Given the description of an element on the screen output the (x, y) to click on. 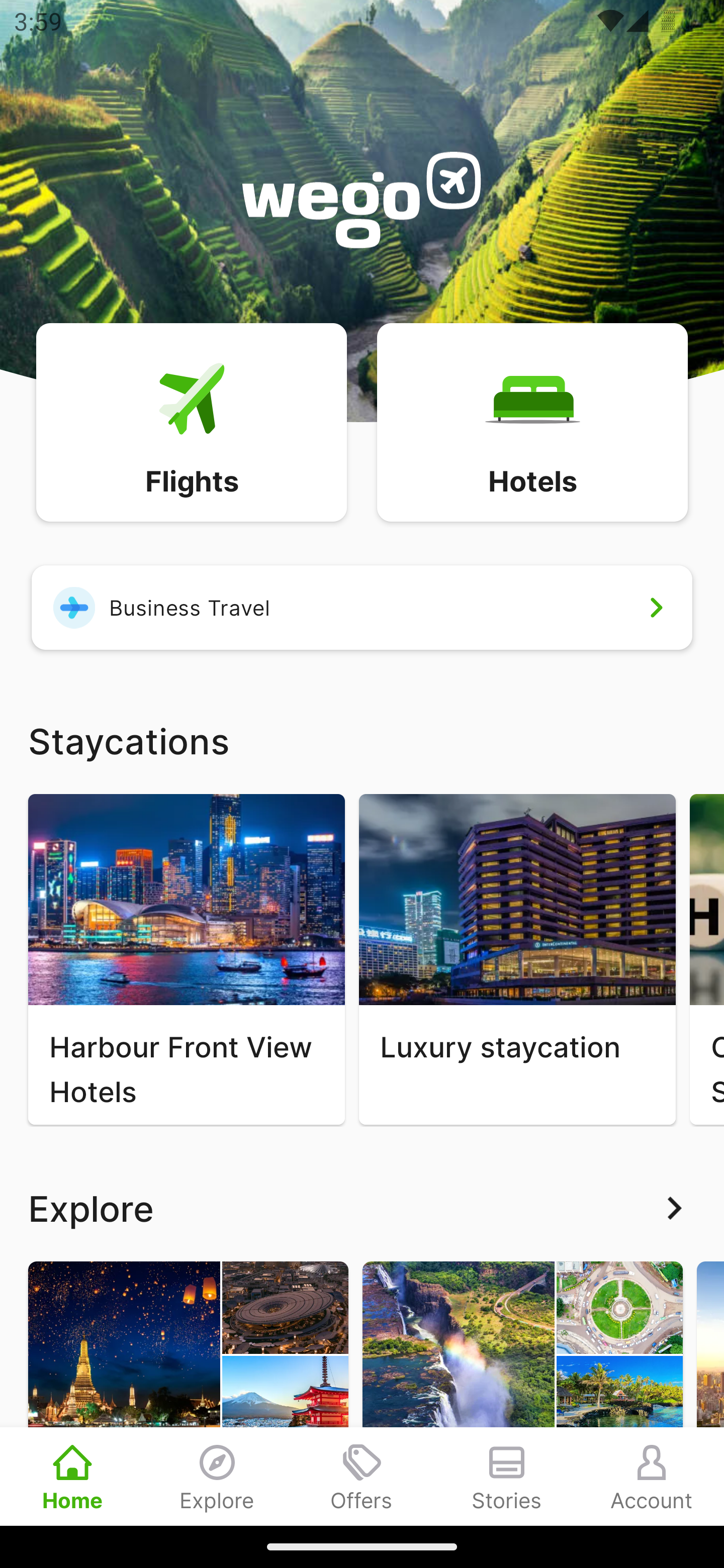
Flights (191, 420)
Hotels (532, 420)
Business Travel (361, 607)
Staycations (362, 739)
Harbour Front View Hotels (186, 958)
Luxury staycation (517, 958)
Explore (362, 1207)
Popular Destinations (188, 1392)
Visa-free Countries (522, 1392)
Explore (216, 1475)
Offers (361, 1475)
Stories (506, 1475)
Account (651, 1475)
